Given the description of an element on the screen output the (x, y) to click on. 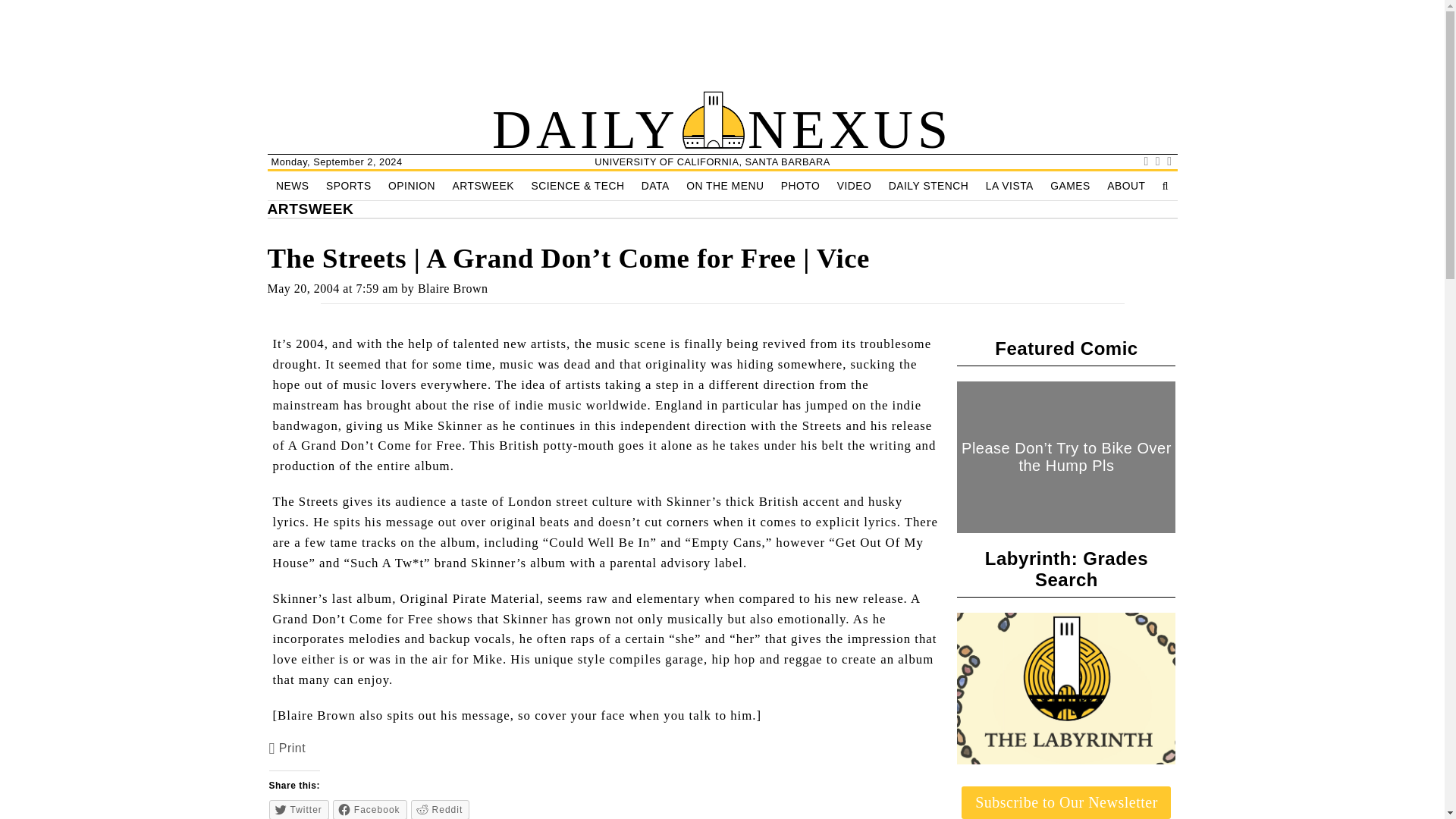
Click to share on Facebook (370, 809)
Posts by Blaire Brown (452, 287)
Click to share on Reddit (440, 809)
Click to share on Twitter (299, 809)
